Given the description of an element on the screen output the (x, y) to click on. 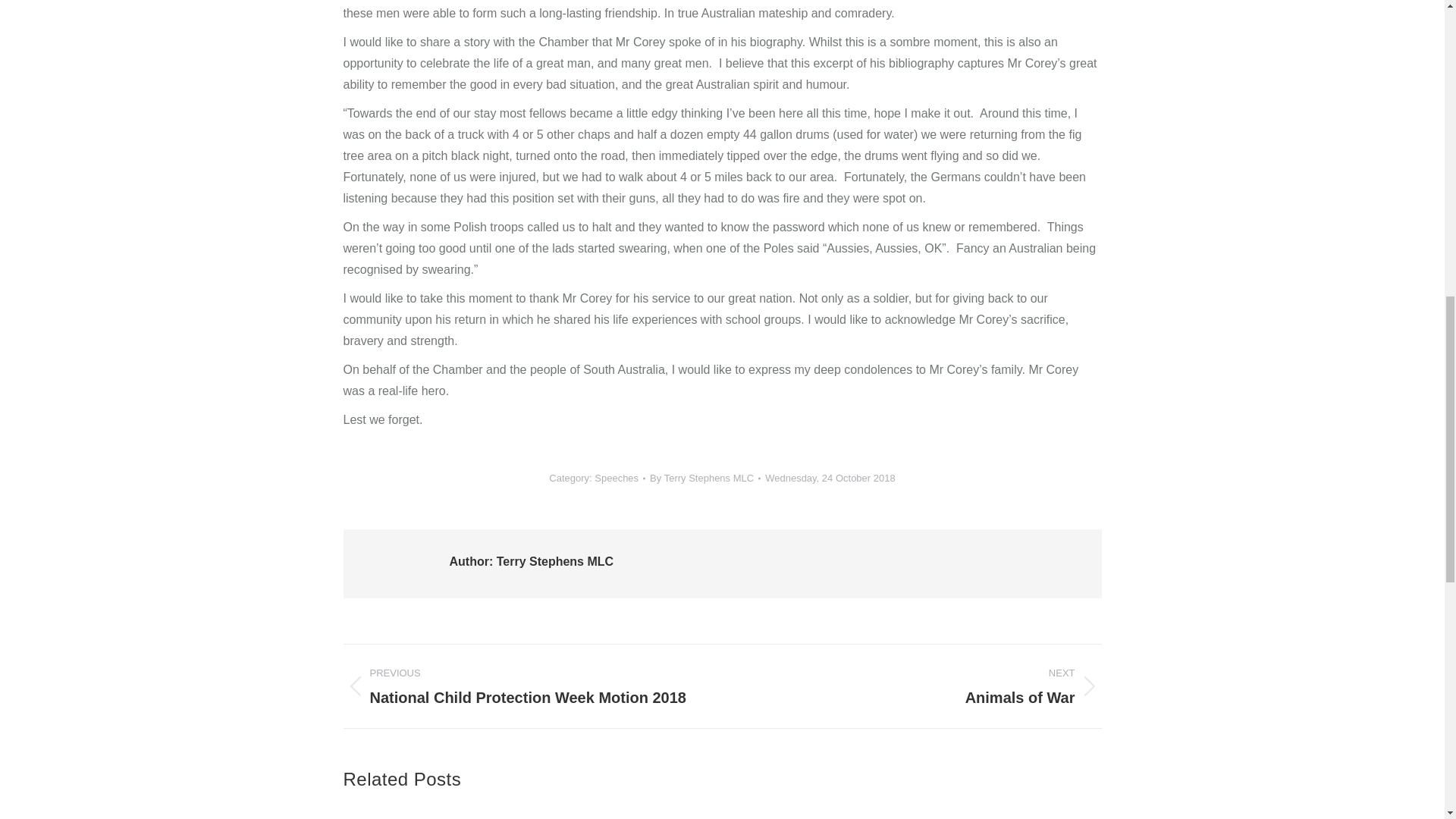
View all posts by Terry Stephens MLC (704, 477)
12:00 am (830, 477)
